Given the description of an element on the screen output the (x, y) to click on. 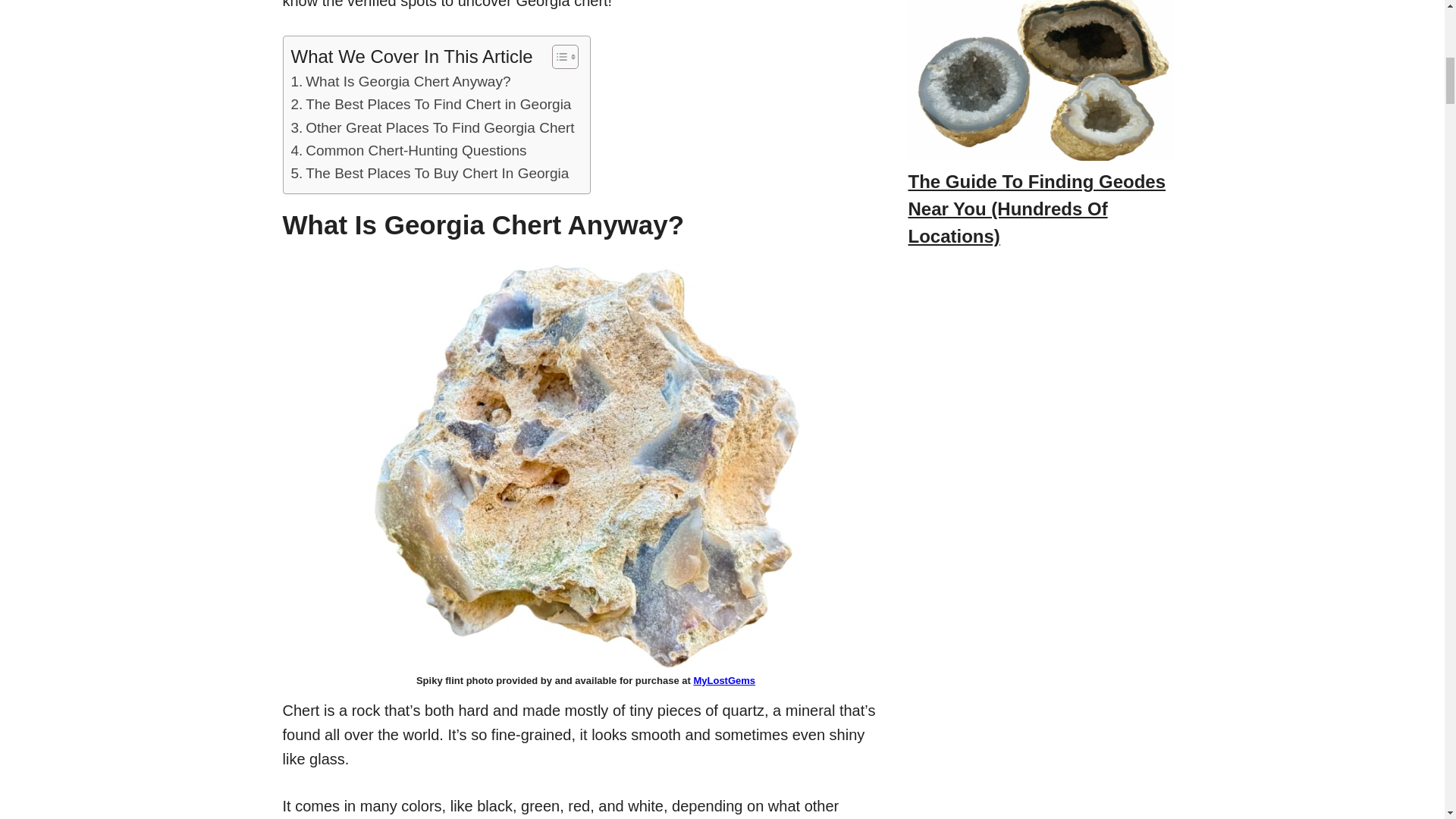
Other Great Places To Find Georgia Chert (433, 128)
Common Chert-Hunting Questions (409, 150)
What Is Georgia Chert Anyway? (401, 81)
The Best Places To Buy Chert In Georgia (430, 173)
The Best Places To Find Chert in Georgia (431, 104)
